Given the description of an element on the screen output the (x, y) to click on. 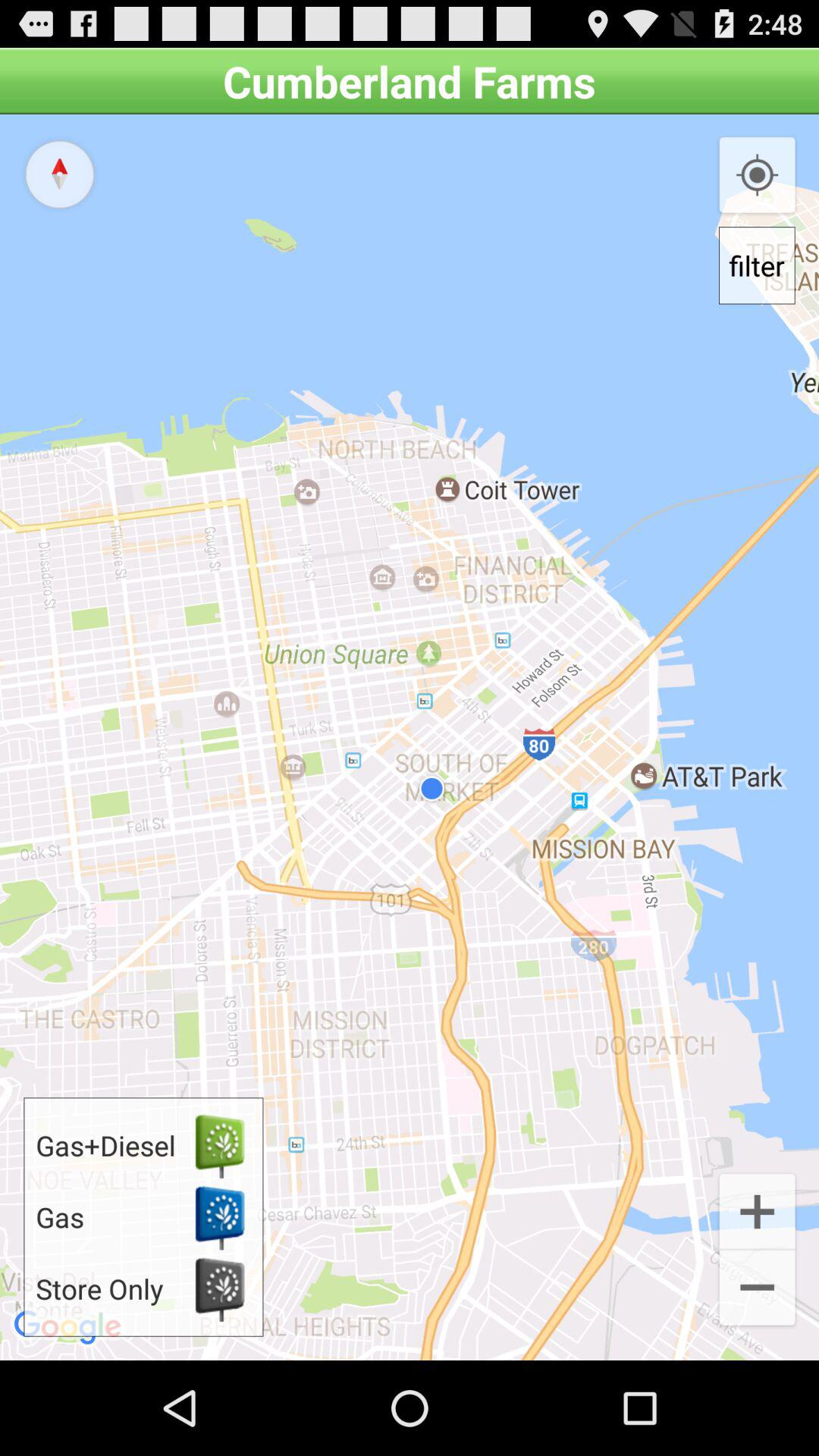
select the image on the right next to the text gasdiesel on the web page (219, 1144)
click the zoom out button on the web page (757, 1289)
click the navigation button on the web page (59, 173)
select the icon which is below the green icon (219, 1216)
